Given the description of an element on the screen output the (x, y) to click on. 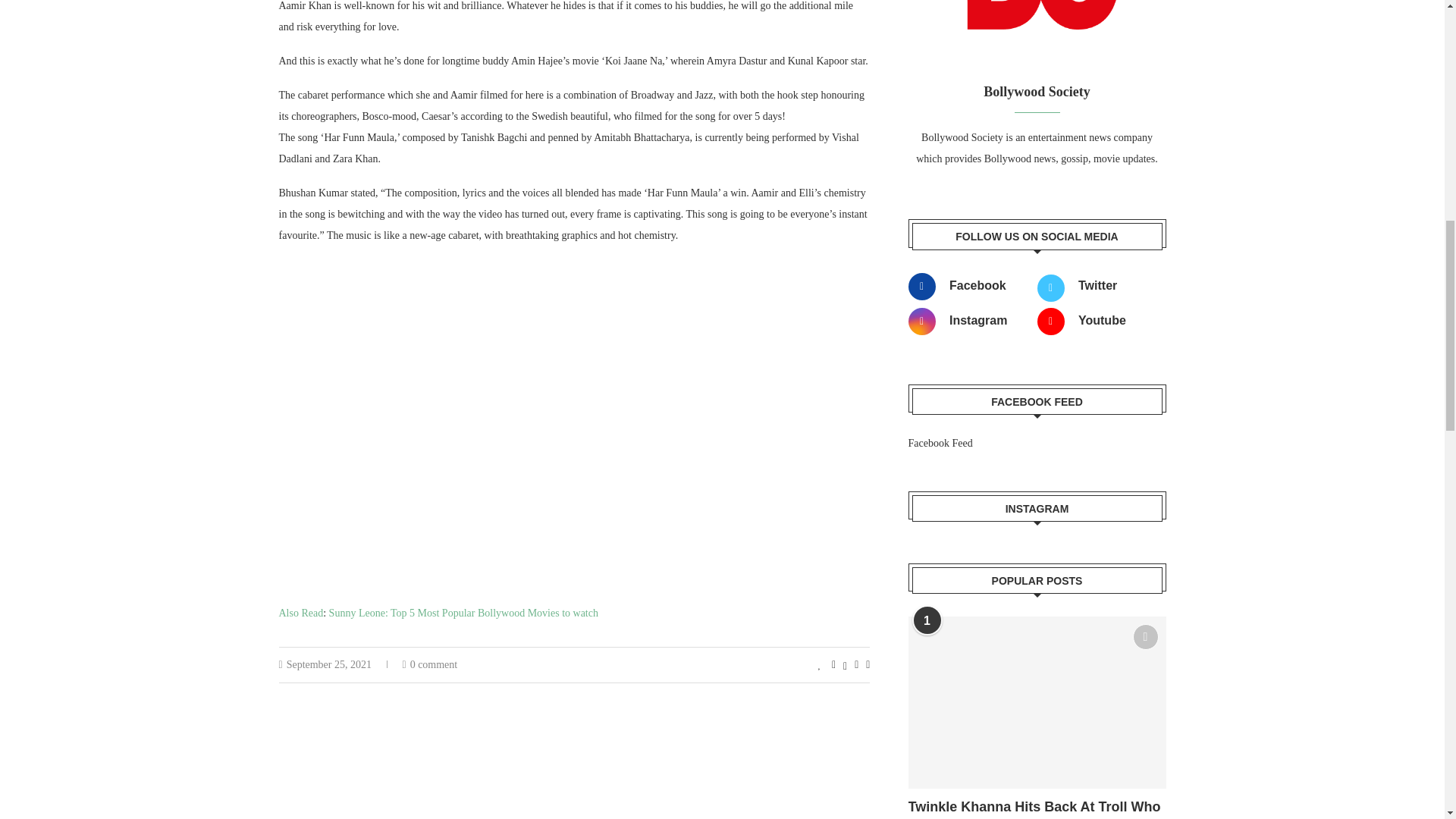
Instagram (968, 320)
0 comment (429, 664)
Facebook (968, 286)
Also Read (301, 613)
Sunny Leone: Top 5 Most Popular Bollywood Movies to watch (463, 613)
Twitter (1096, 286)
